Given the description of an element on the screen output the (x, y) to click on. 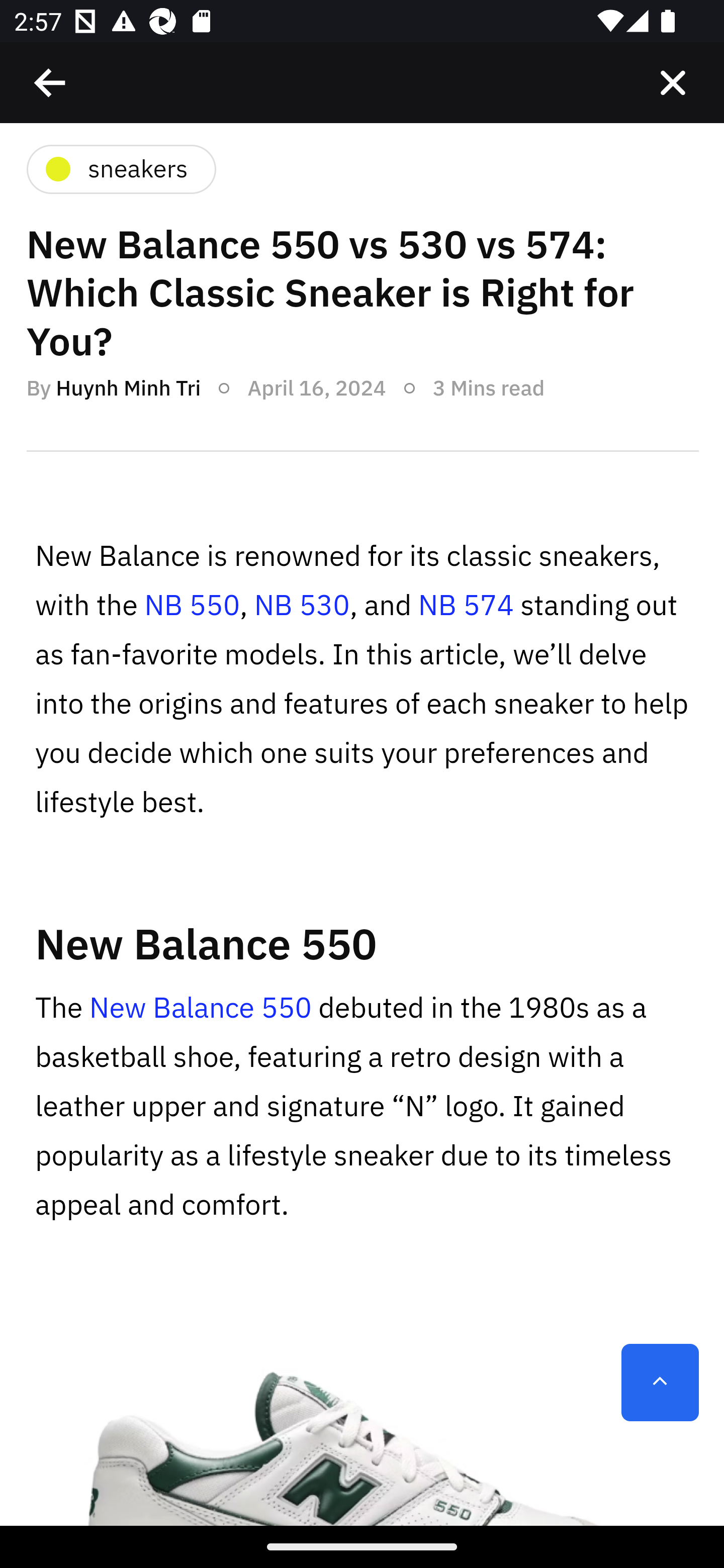
 (50, 83)
 (672, 83)
sneakers (120, 170)
Huynh Minh Tri (127, 389)
NB 550 (192, 606)
NB 530 (301, 606)
NB 574 (465, 606)
New Balance 550 (200, 1008)
Scroll to top  (659, 1382)
